Given the description of an element on the screen output the (x, y) to click on. 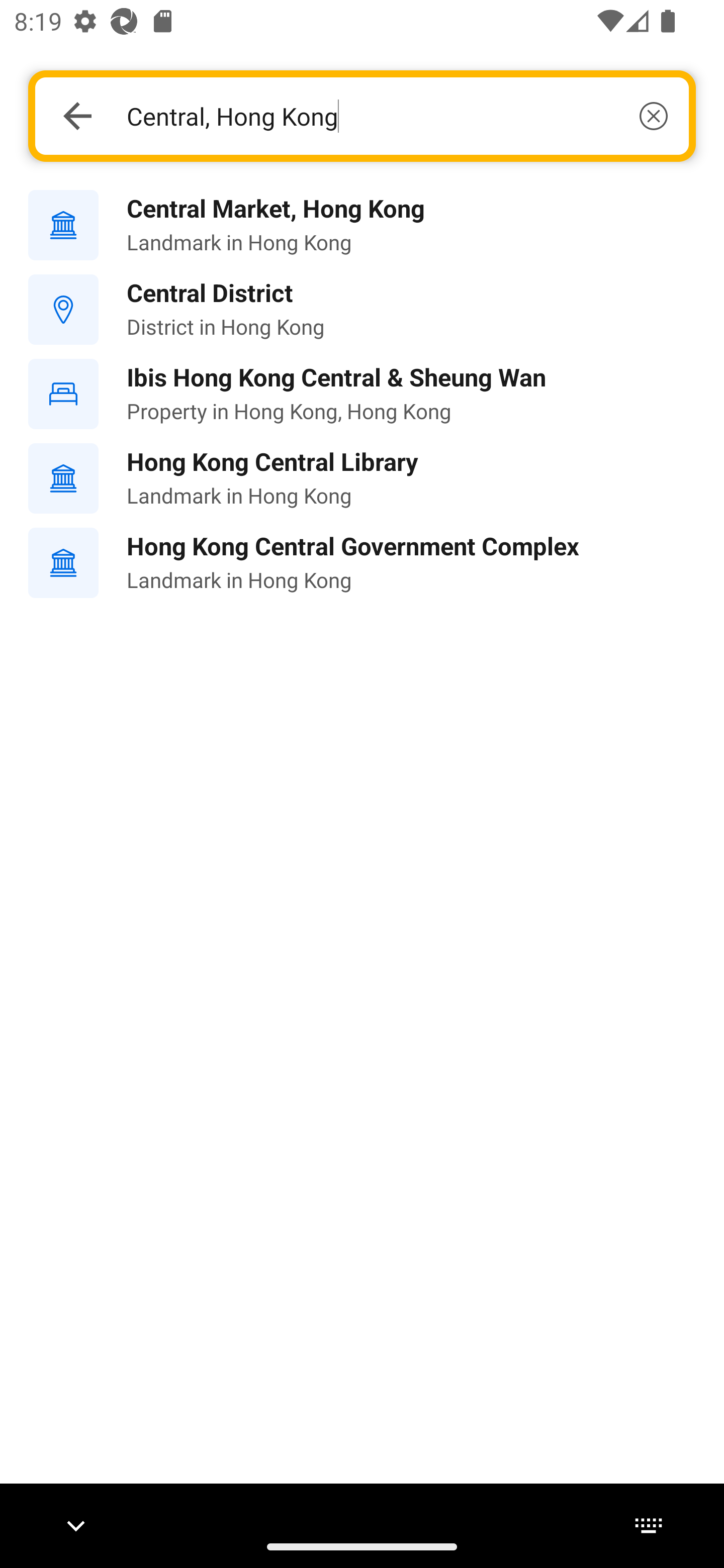
Central, Hong Kong (396, 115)
Central Market, Hong Kong Landmark in Hong Kong (362, 225)
Central District District in Hong Kong (362, 309)
Hong Kong Central Library Landmark in Hong Kong (362, 477)
